Given the description of an element on the screen output the (x, y) to click on. 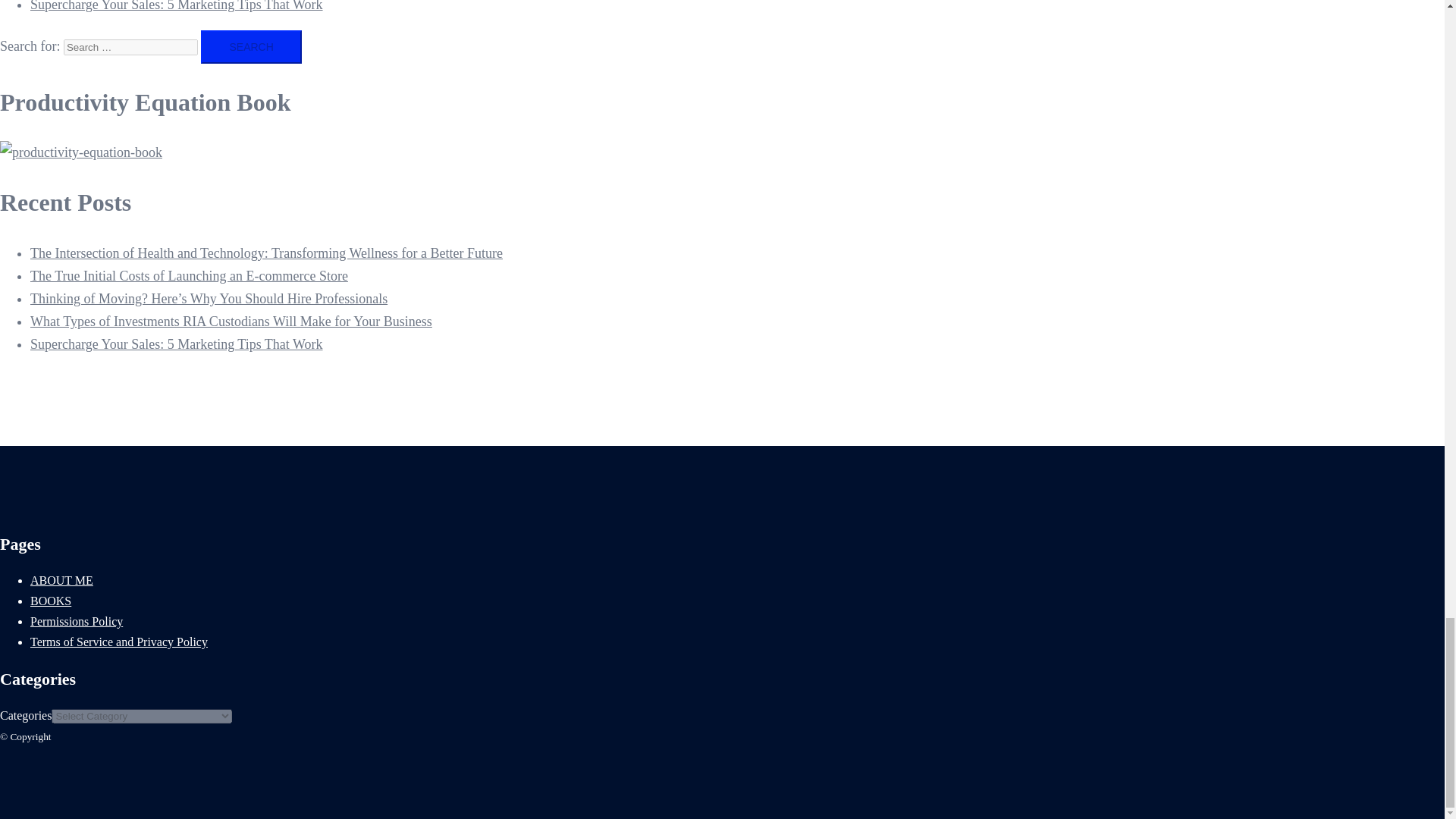
Search (250, 46)
Search (250, 46)
Search (250, 46)
Supercharge Your Sales: 5 Marketing Tips That Work (176, 6)
The True Initial Costs of Launching an E-commerce Store (188, 275)
